Given the description of an element on the screen output the (x, y) to click on. 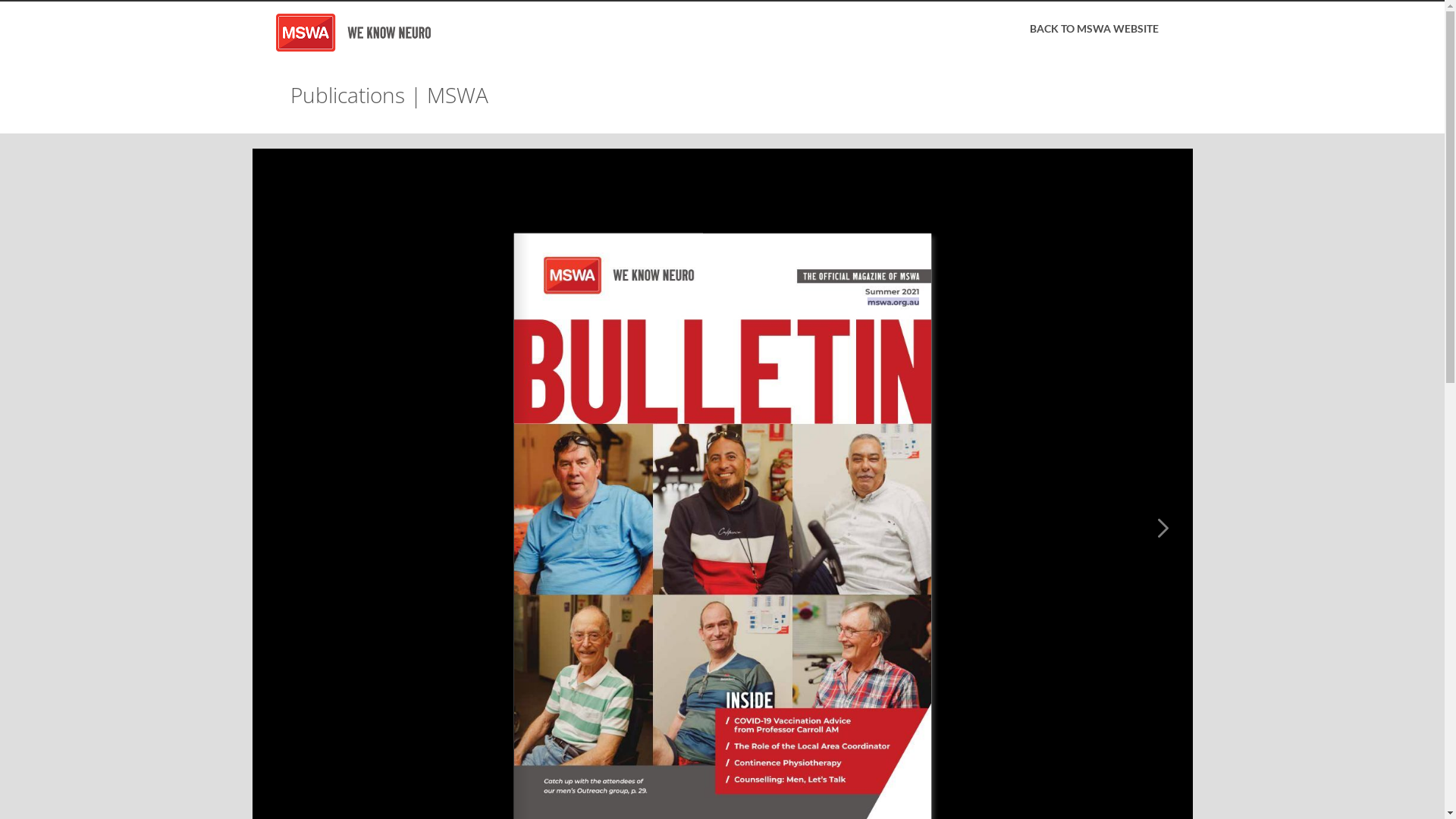
BACK TO MSWA WEBSITE Element type: text (1093, 28)
